Given the description of an element on the screen output the (x, y) to click on. 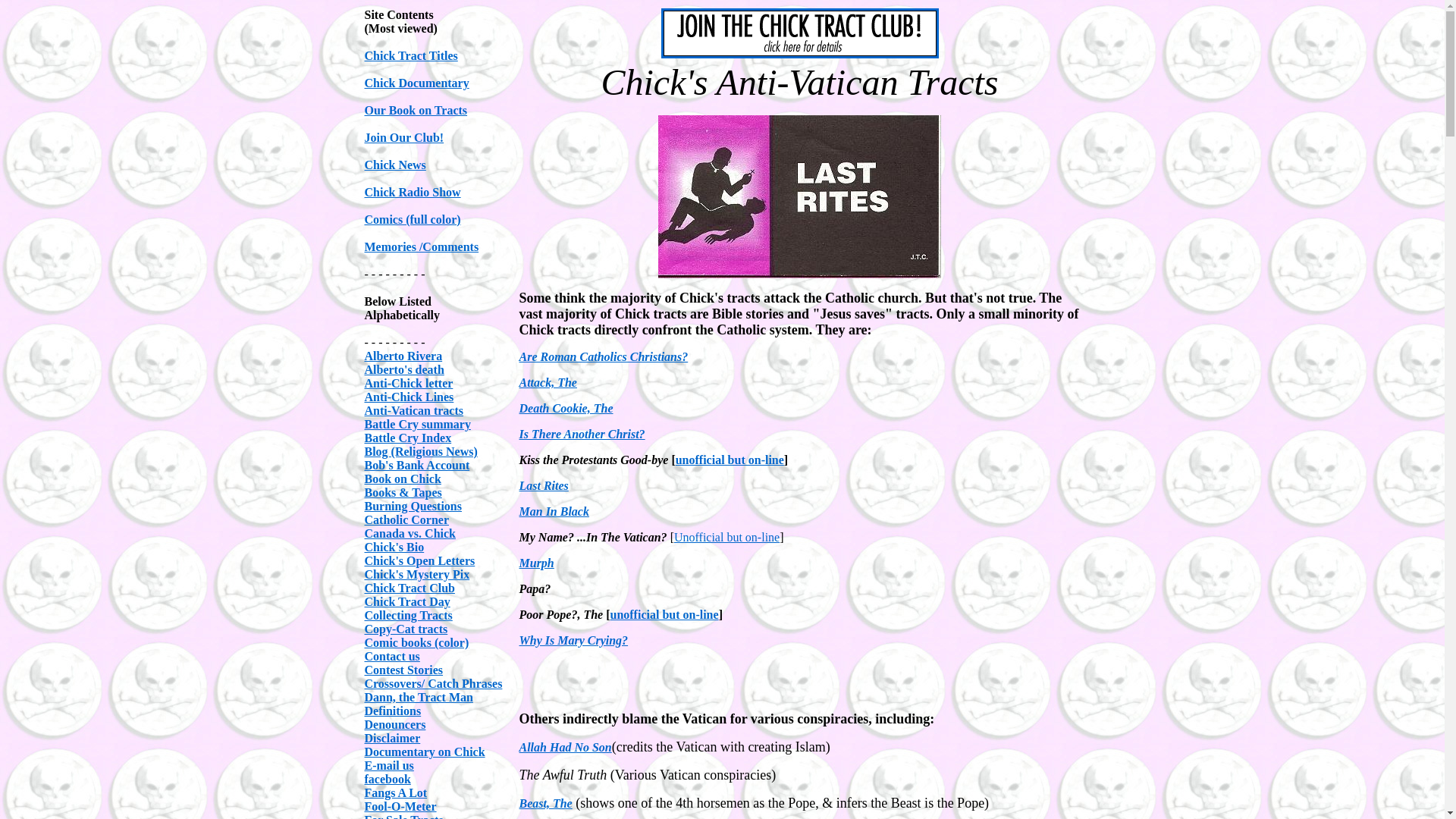
Anti-Chick letter (408, 382)
Bob's Bank Account (416, 464)
Alberto's death (404, 369)
Chick News (394, 164)
Chick's Open Letters (419, 560)
Book on Chick (402, 478)
facebook (387, 779)
E-mail us (388, 765)
Join Our Club! (404, 137)
Chick Tract Club (409, 587)
